Given the description of an element on the screen output the (x, y) to click on. 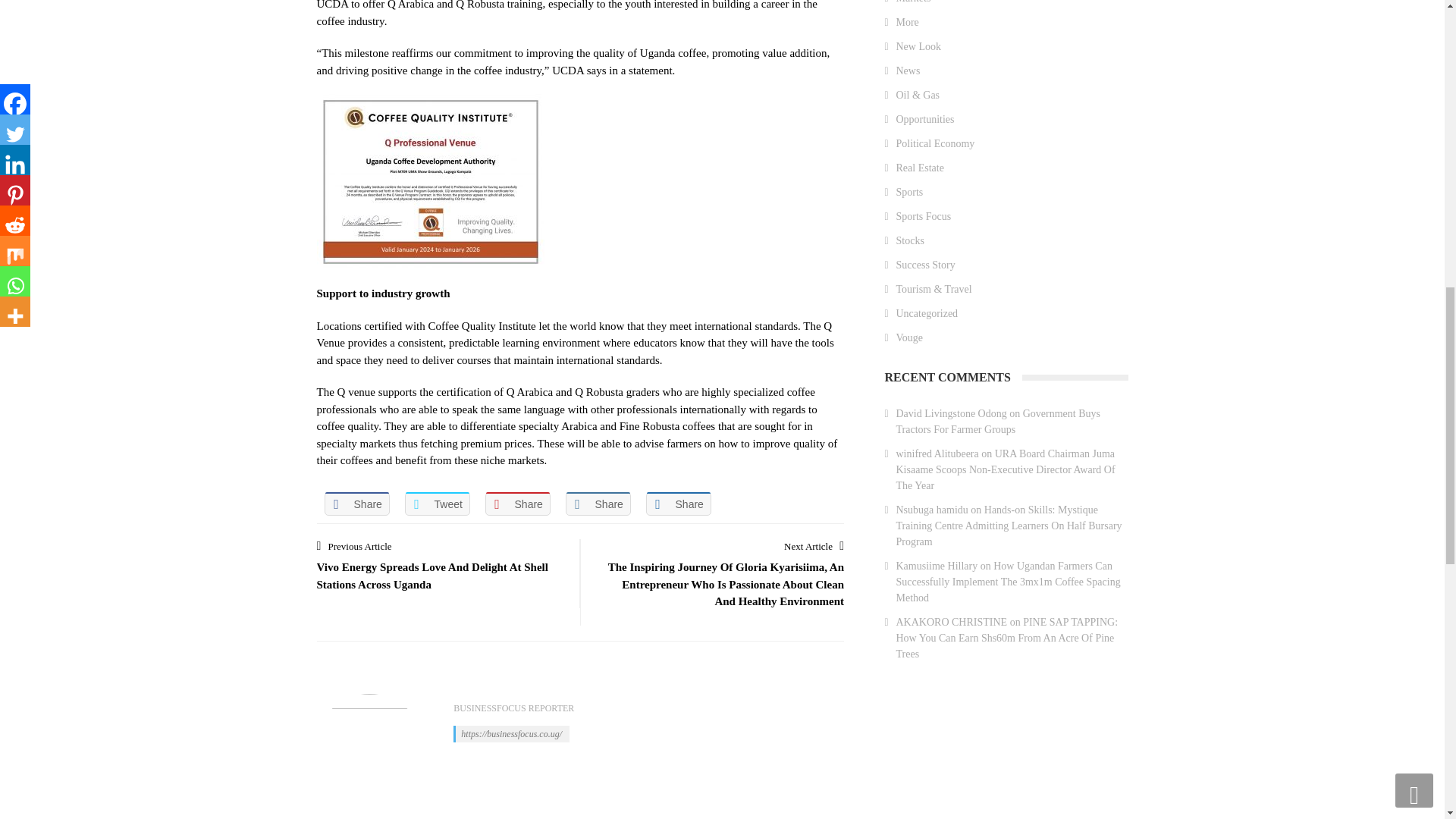
Share on Twitter (437, 503)
Share on Pinterest (517, 503)
Share on LinkedIn (598, 503)
Share on Digg (678, 503)
Share on Facebook (357, 503)
